Given the description of an element on the screen output the (x, y) to click on. 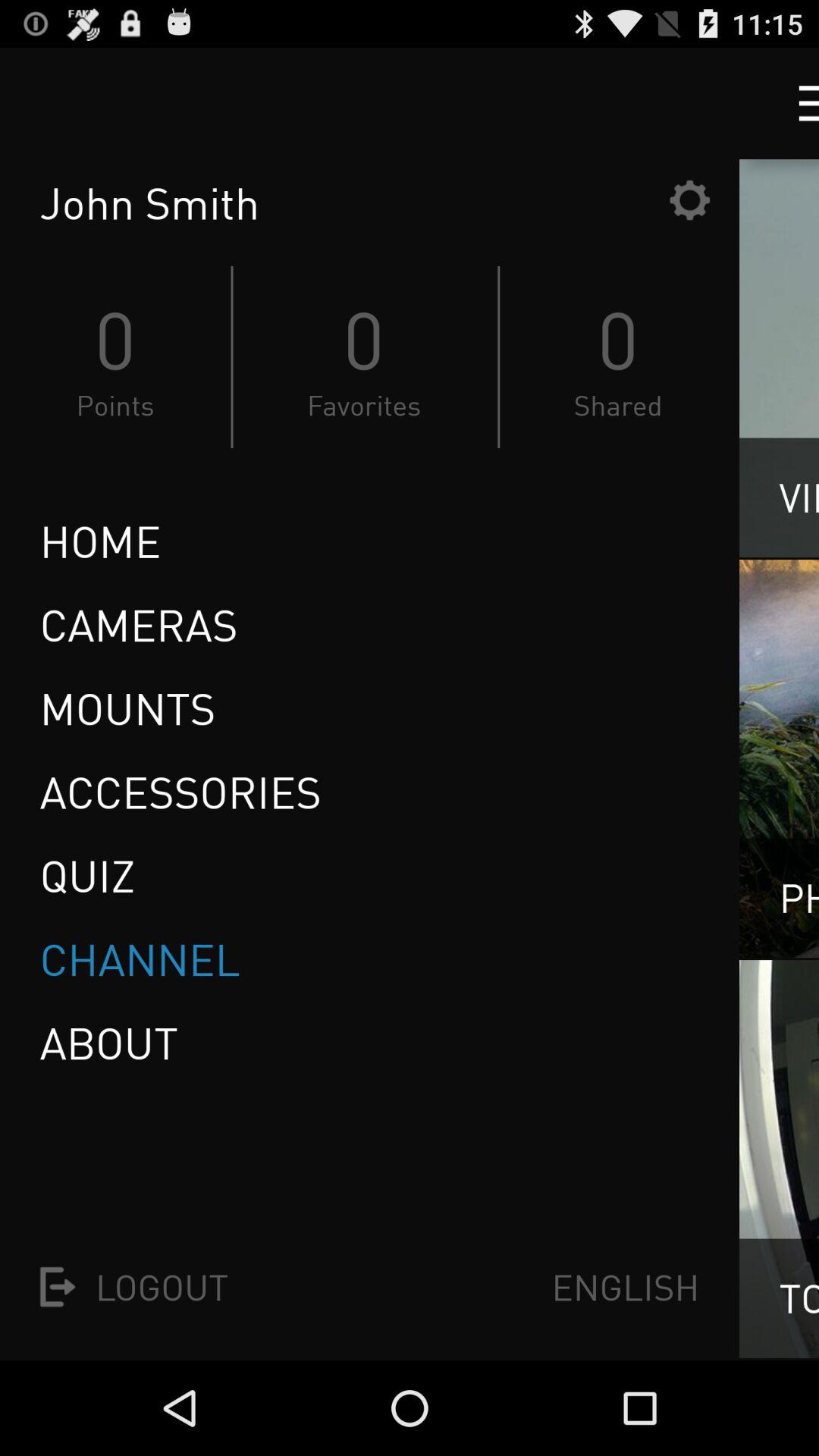
toggle drop-down menu (795, 102)
